Given the description of an element on the screen output the (x, y) to click on. 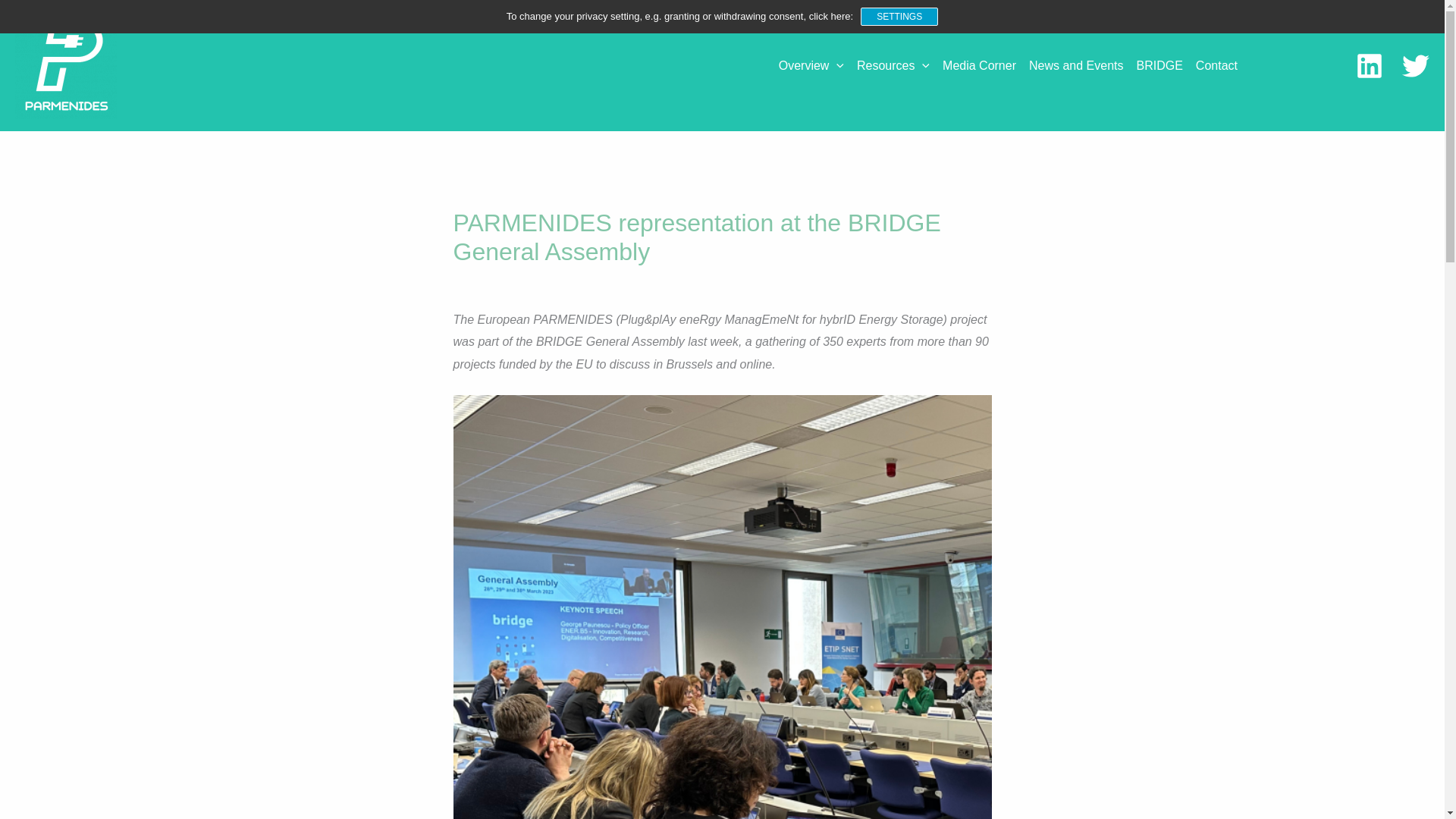
News and Events (1081, 65)
Media Corner (984, 65)
SETTINGS (898, 16)
Resources (899, 65)
